Given the description of an element on the screen output the (x, y) to click on. 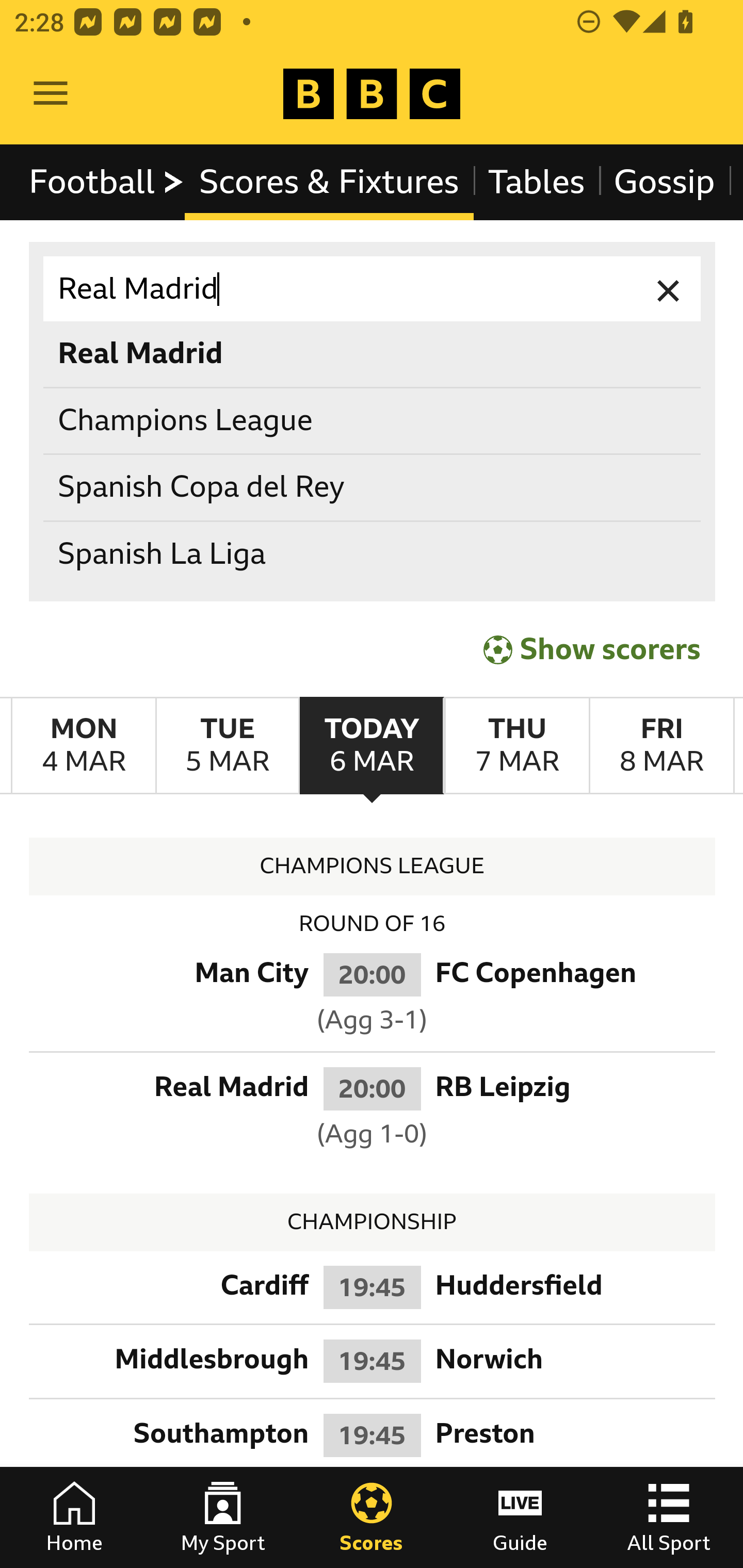
Open Menu (50, 93)
Football  (106, 181)
Scores & Fixtures (329, 181)
Tables (536, 181)
Gossip (664, 181)
Real Madrid (372, 289)
Clear input (669, 289)
Champions League (372, 419)
Spanish Copa del Rey (372, 488)
Spanish La Liga (372, 554)
Show scorers (591, 647)
MondayMarch 4th Monday March 4th (83, 745)
TuesdayMarch 5th Tuesday March 5th (227, 745)
ThursdayMarch 7th Thursday March 7th (516, 745)
FridayMarch 8th Friday March 8th (661, 745)
Home (74, 1517)
My Sport (222, 1517)
Guide (519, 1517)
All Sport (668, 1517)
